Given the description of an element on the screen output the (x, y) to click on. 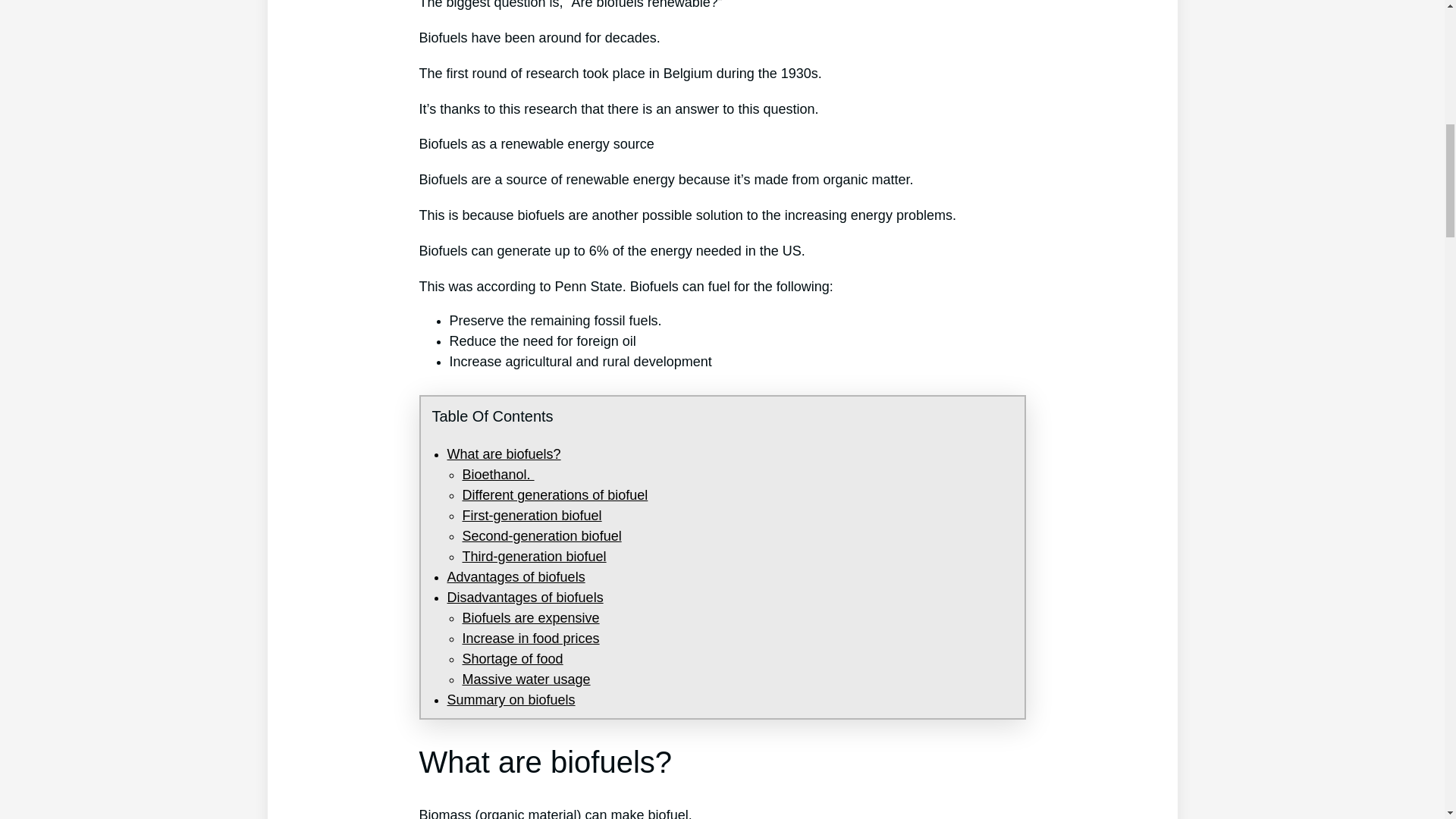
Summary on biofuels (510, 699)
What are biofuels? (503, 453)
Shortage of food (513, 658)
Third-generation biofuel (535, 556)
Disadvantages of biofuels (525, 597)
Massive water usage (527, 679)
Different generations of biofuel (555, 494)
First-generation biofuel (532, 515)
Advantages of biofuels (515, 576)
Biofuels are expensive (531, 617)
Bioethanol.  (498, 474)
Second-generation biofuel (542, 535)
Increase in food prices (531, 638)
